Given the description of an element on the screen output the (x, y) to click on. 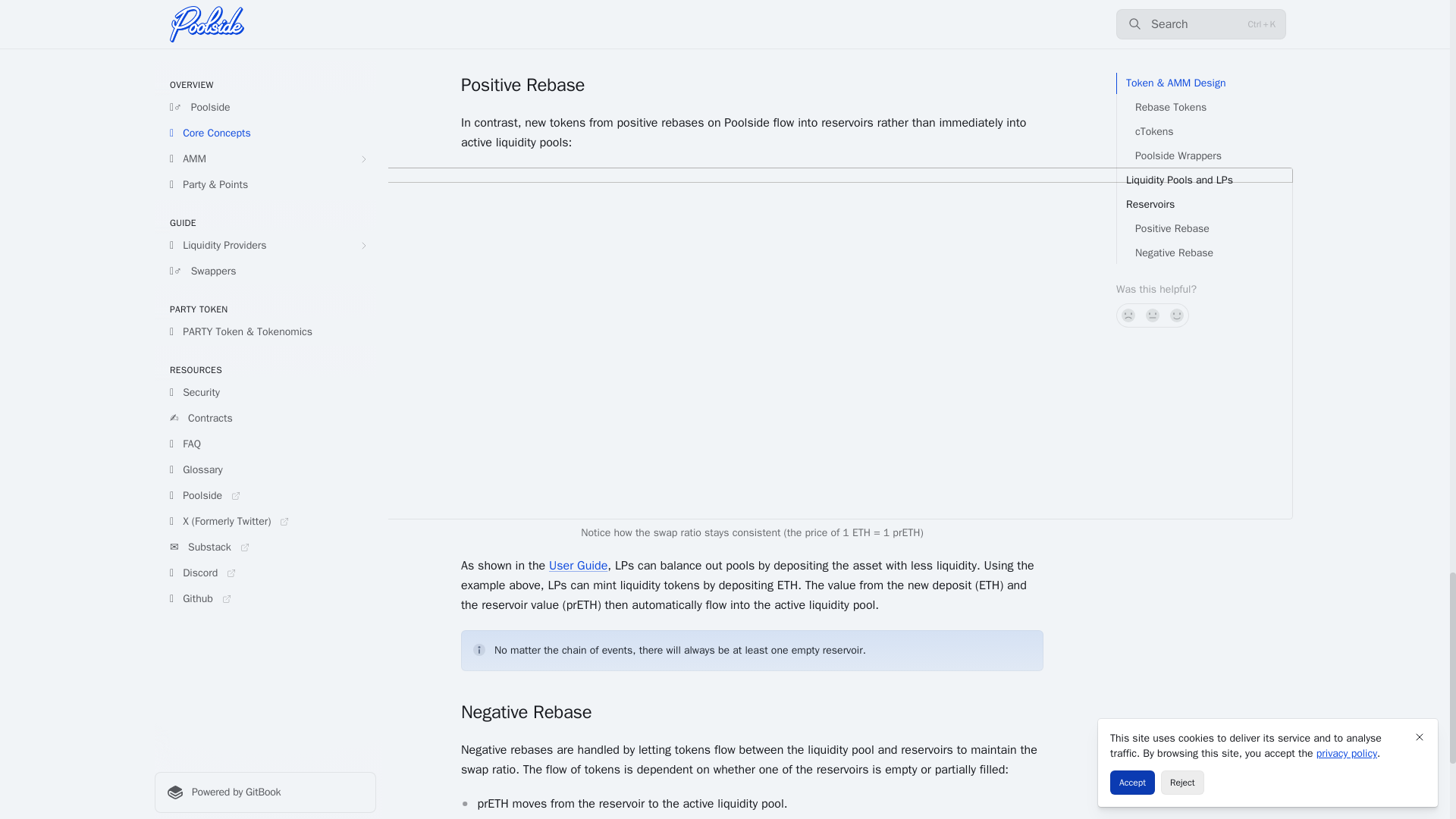
User Guide (577, 565)
